Given the description of an element on the screen output the (x, y) to click on. 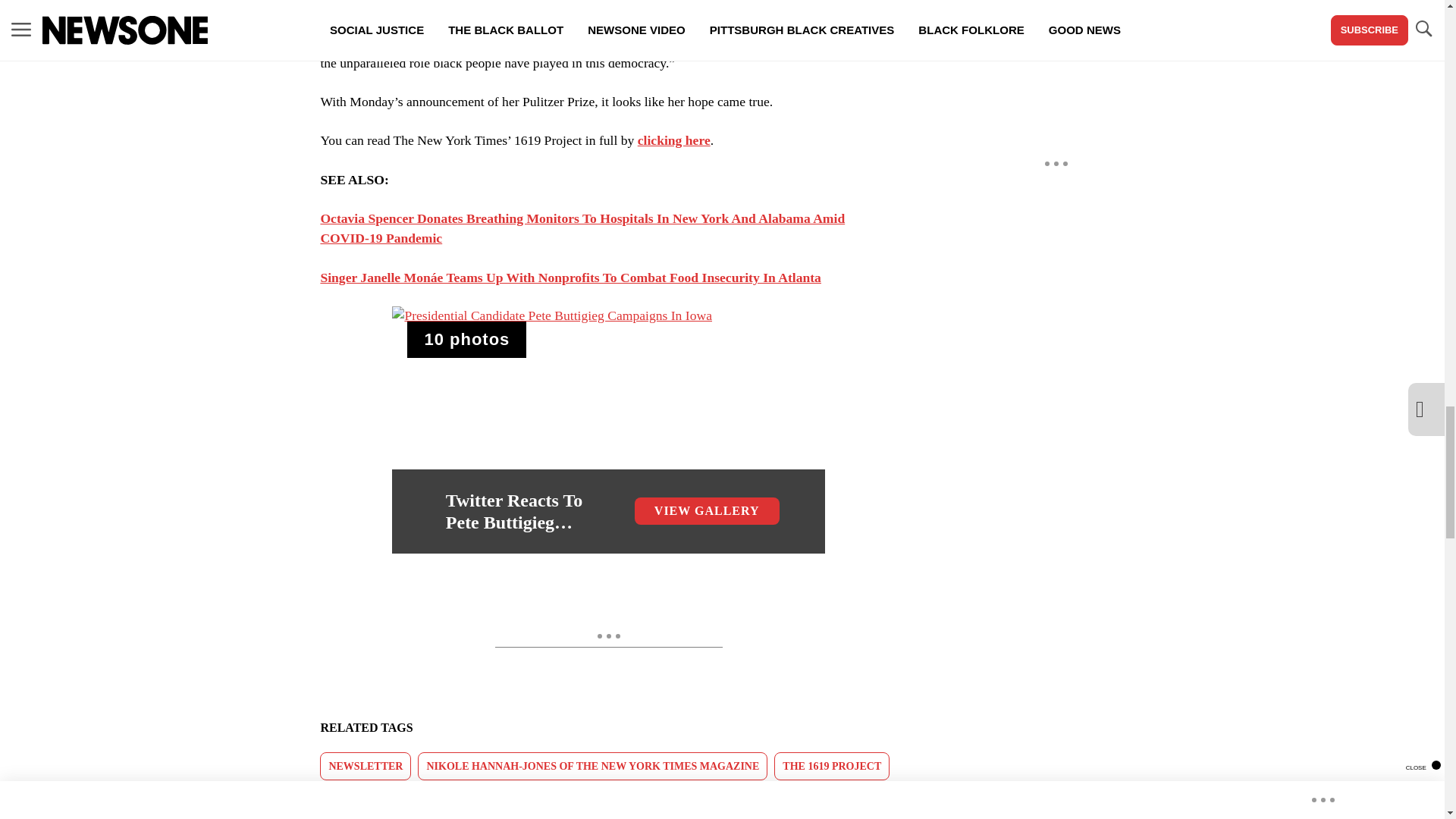
Hannah-Jones tweeted (612, 22)
NEWSLETTER (365, 766)
THE 1619 PROJECT (831, 766)
Media Playlist (466, 339)
NIKOLE HANNAH-JONES OF THE NEW YORK TIMES MAGAZINE (592, 766)
clicking here (673, 140)
